Given the description of an element on the screen output the (x, y) to click on. 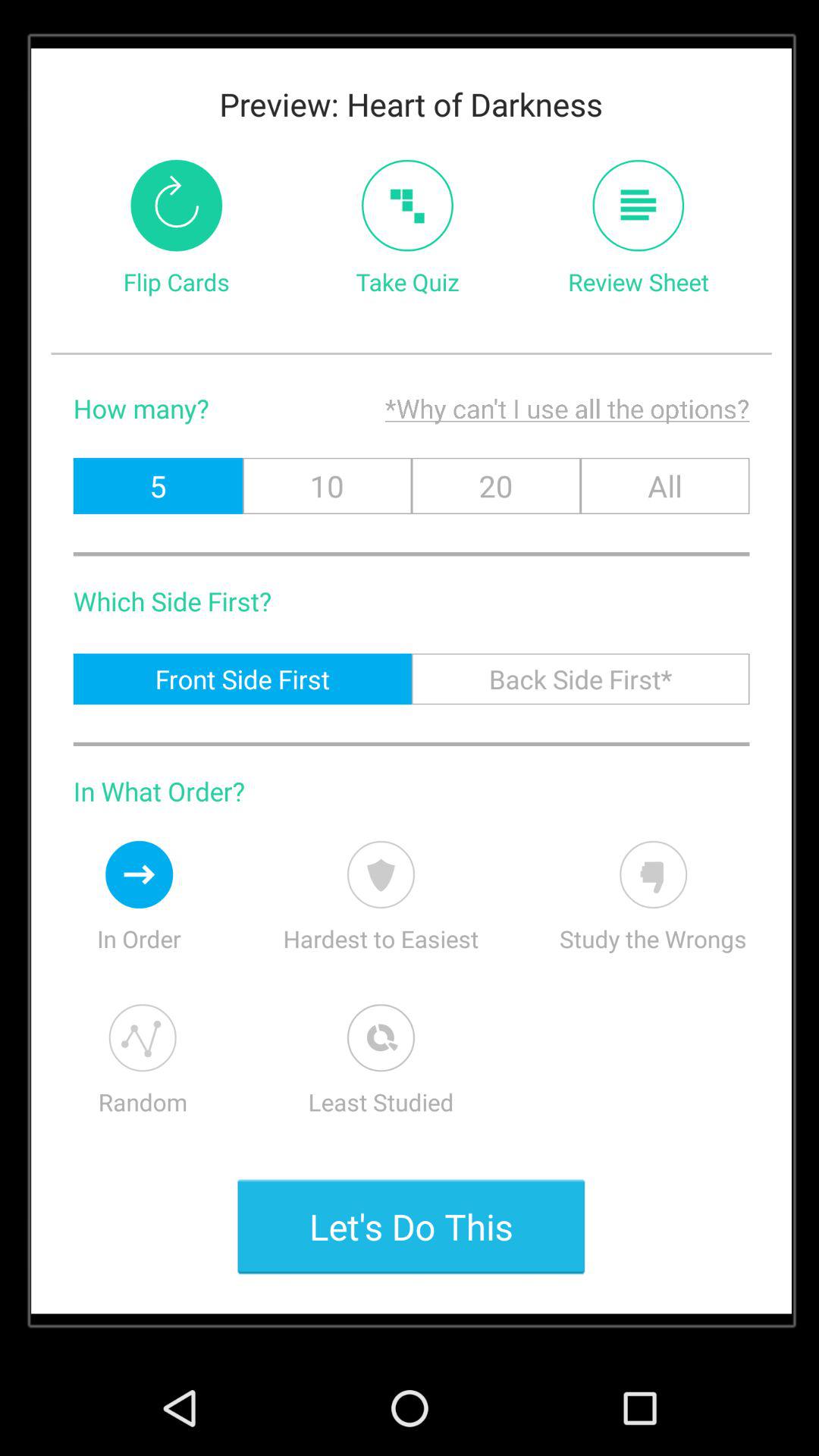
order the list by the least studied first (380, 1037)
